Given the description of an element on the screen output the (x, y) to click on. 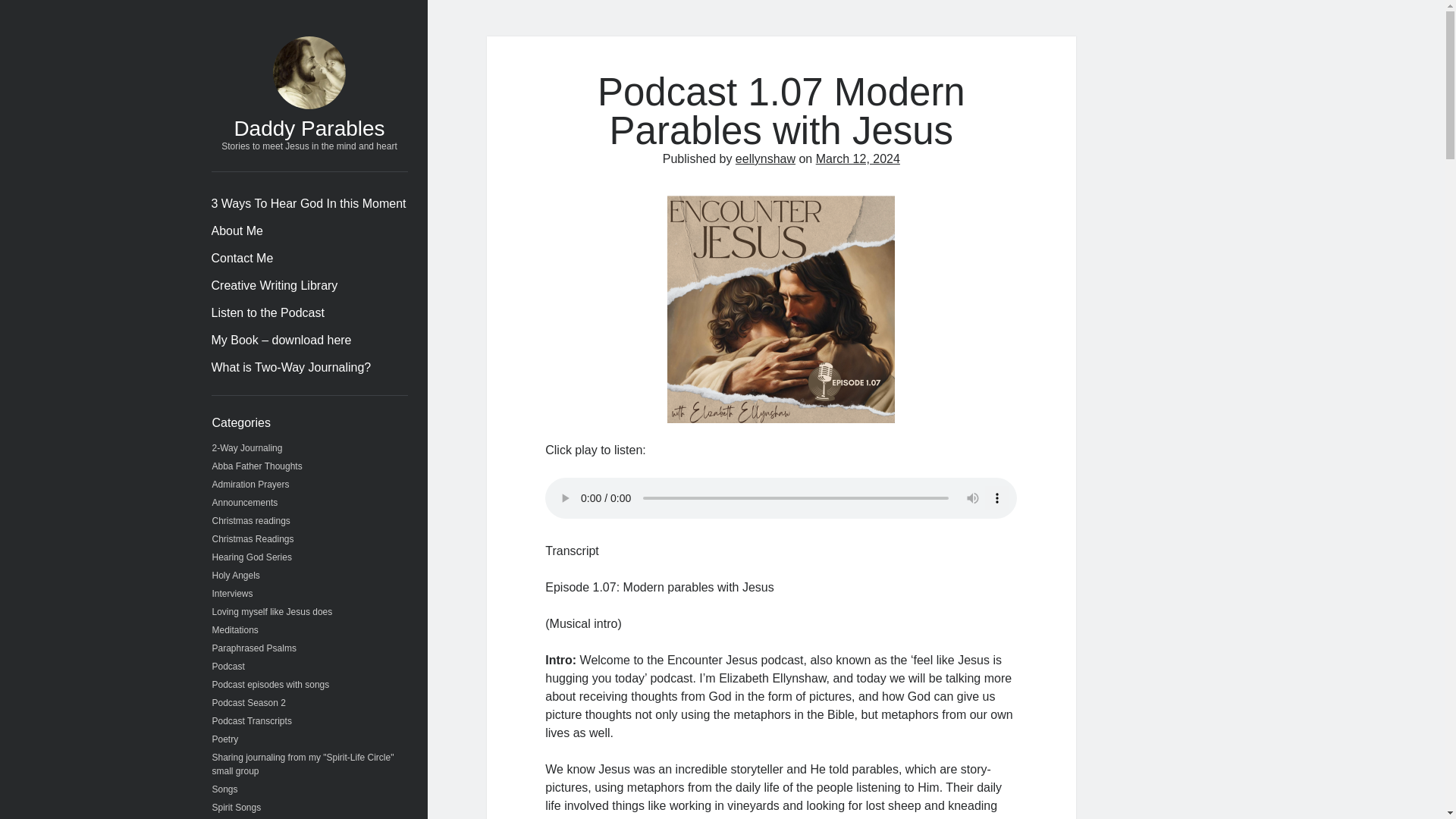
Creative Writing Library (274, 285)
Podcast Season 2 (248, 702)
3 Ways To Hear God In this Moment (308, 203)
Meditations (235, 629)
Daddy Parables (308, 128)
Contact Me (242, 258)
Hearing God Series (252, 557)
Poetry (225, 738)
Podcast Transcripts (252, 720)
Paraphrased Psalms (254, 647)
